Given the description of an element on the screen output the (x, y) to click on. 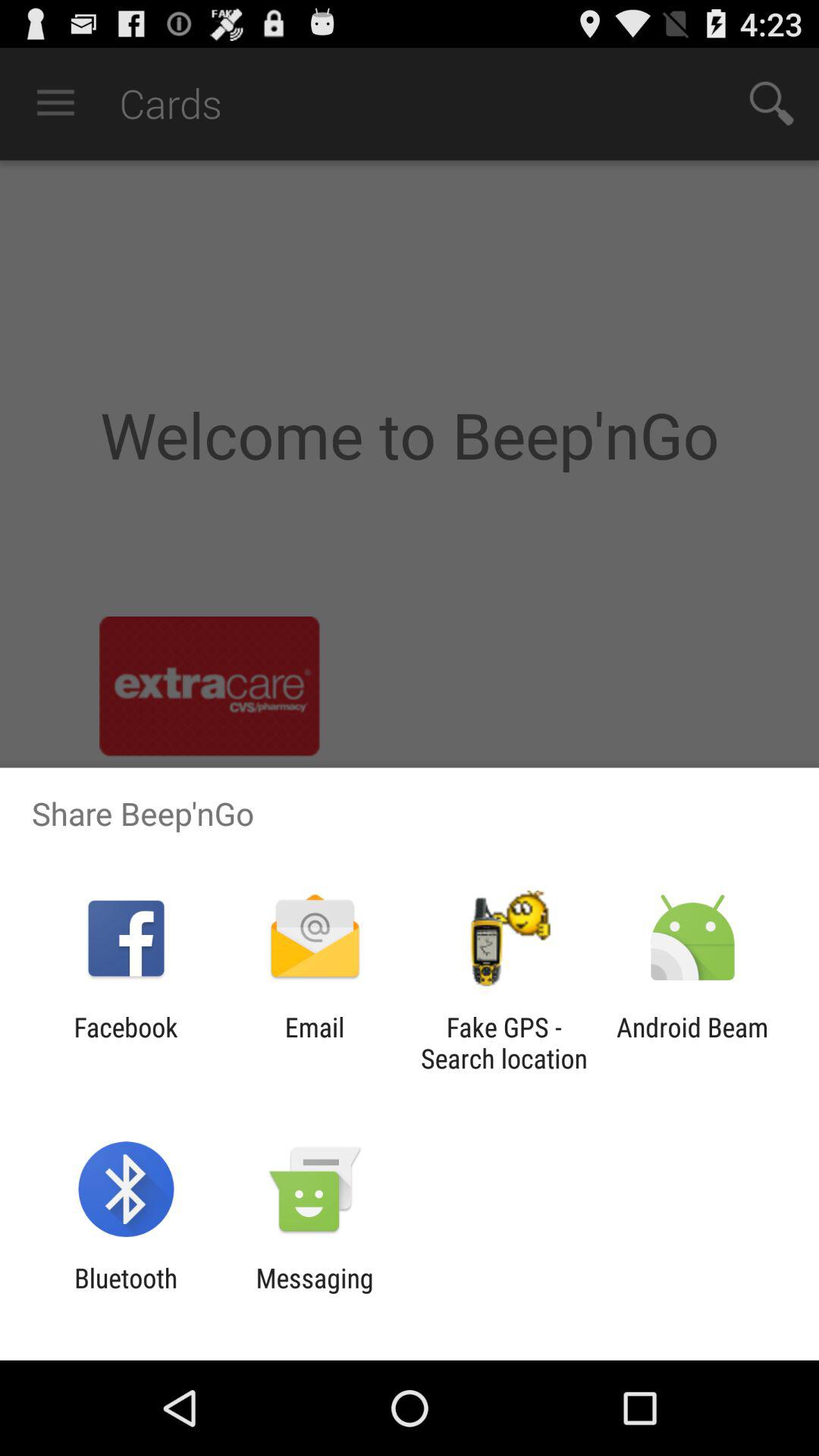
click item at the bottom right corner (692, 1042)
